Given the description of an element on the screen output the (x, y) to click on. 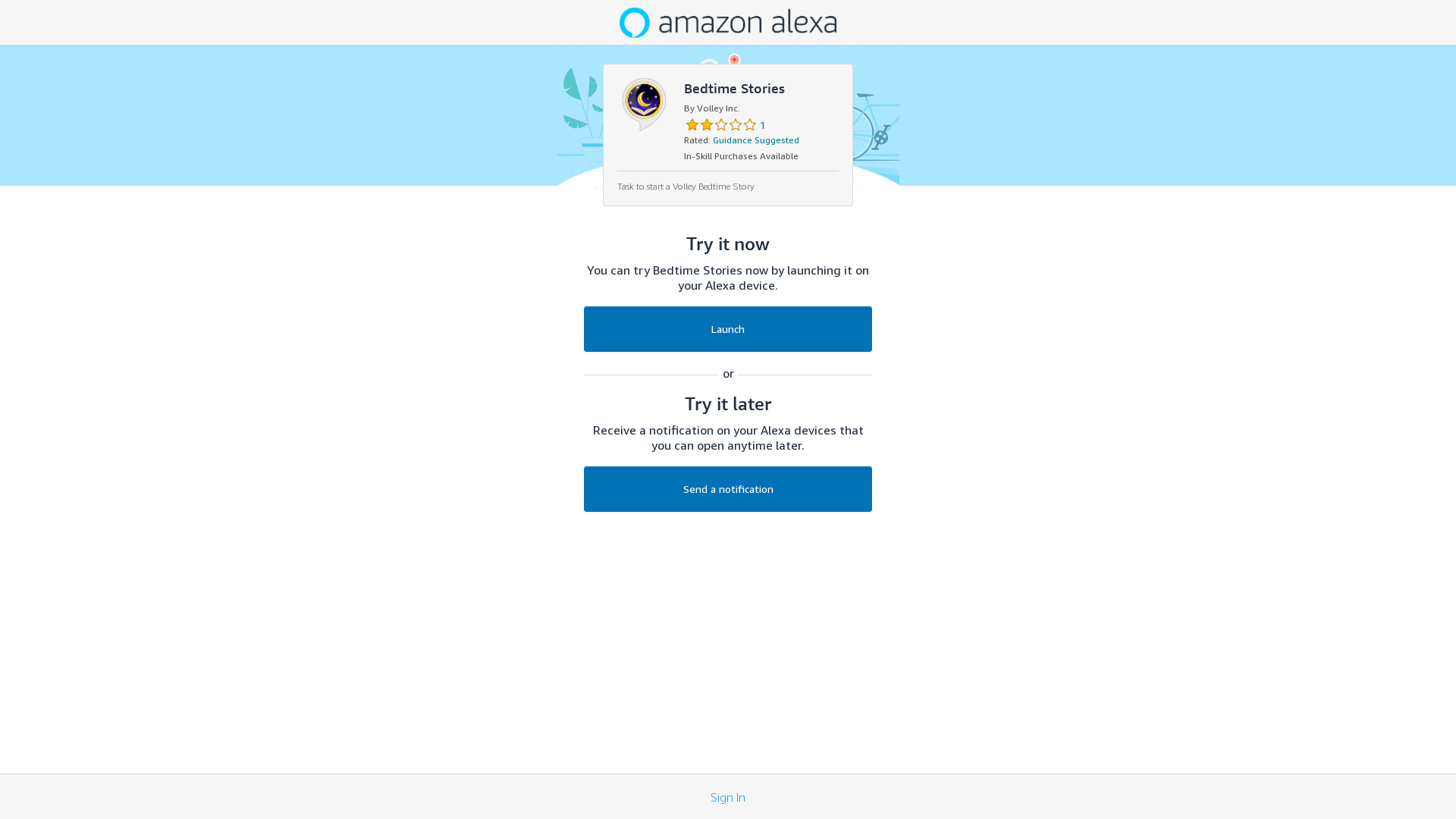
Launch Element type: text (727, 328)
Sign In Element type: text (727, 795)
Guidance Suggested Element type: text (755, 139)
Send a notification Element type: text (727, 488)
